Given the description of an element on the screen output the (x, y) to click on. 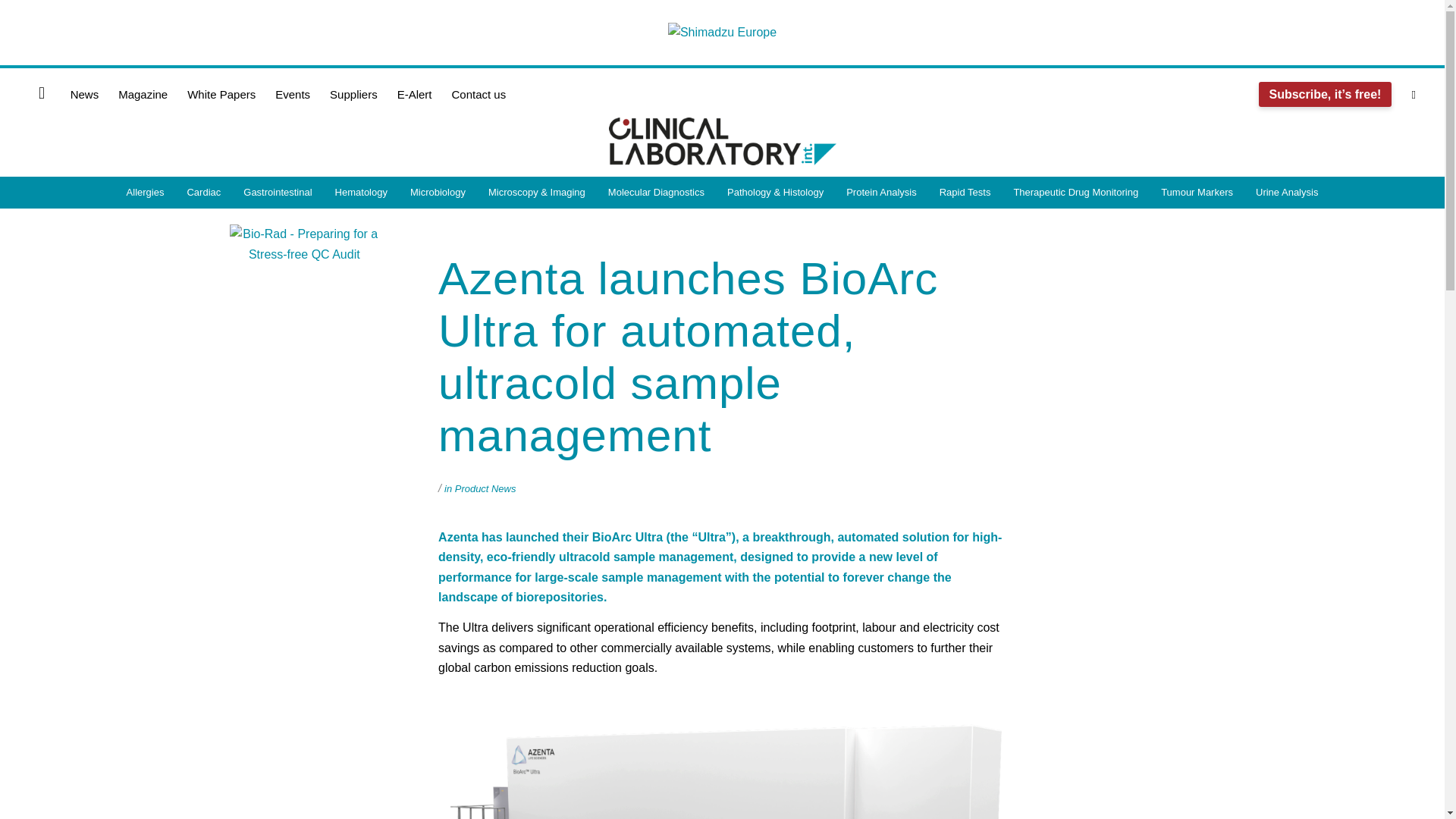
Shimadzu Europe (722, 32)
Hematology (360, 192)
Rapid Tests (965, 192)
Azenta BioArc Ultra (722, 753)
Allergies (145, 192)
Urine Analysis (1286, 192)
Therapeutic Drug Monitoring (1075, 192)
Protein Analysis (881, 192)
Contact us (478, 94)
Product News (485, 488)
